Given the description of an element on the screen output the (x, y) to click on. 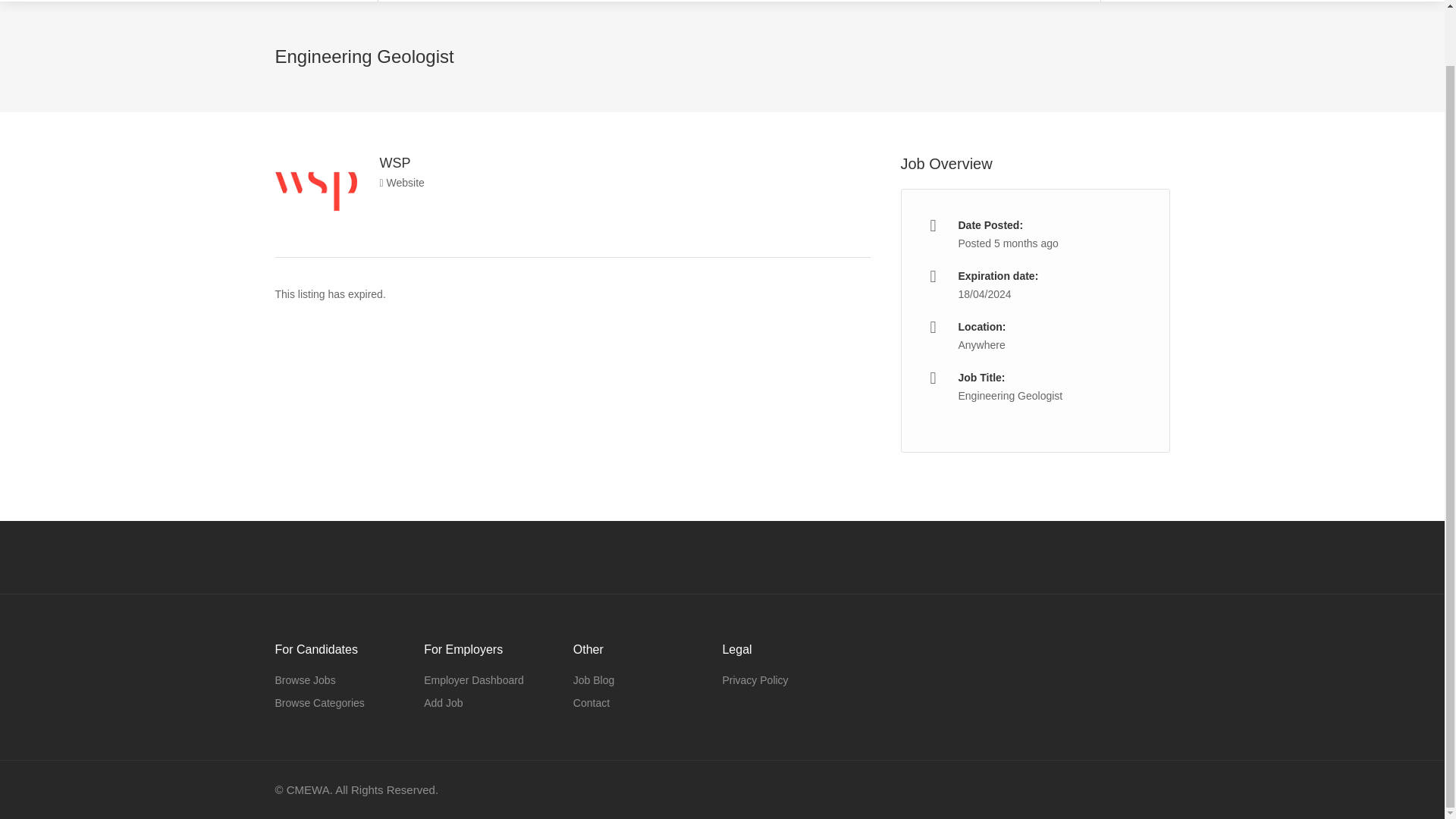
Privacy Policy (754, 680)
WSP (394, 162)
Browse Jobs (304, 680)
Employer Dashboard (473, 680)
Contact (591, 702)
Website (400, 182)
Add Job (443, 702)
Browse Categories (319, 702)
Job Blog (593, 680)
